Given the description of an element on the screen output the (x, y) to click on. 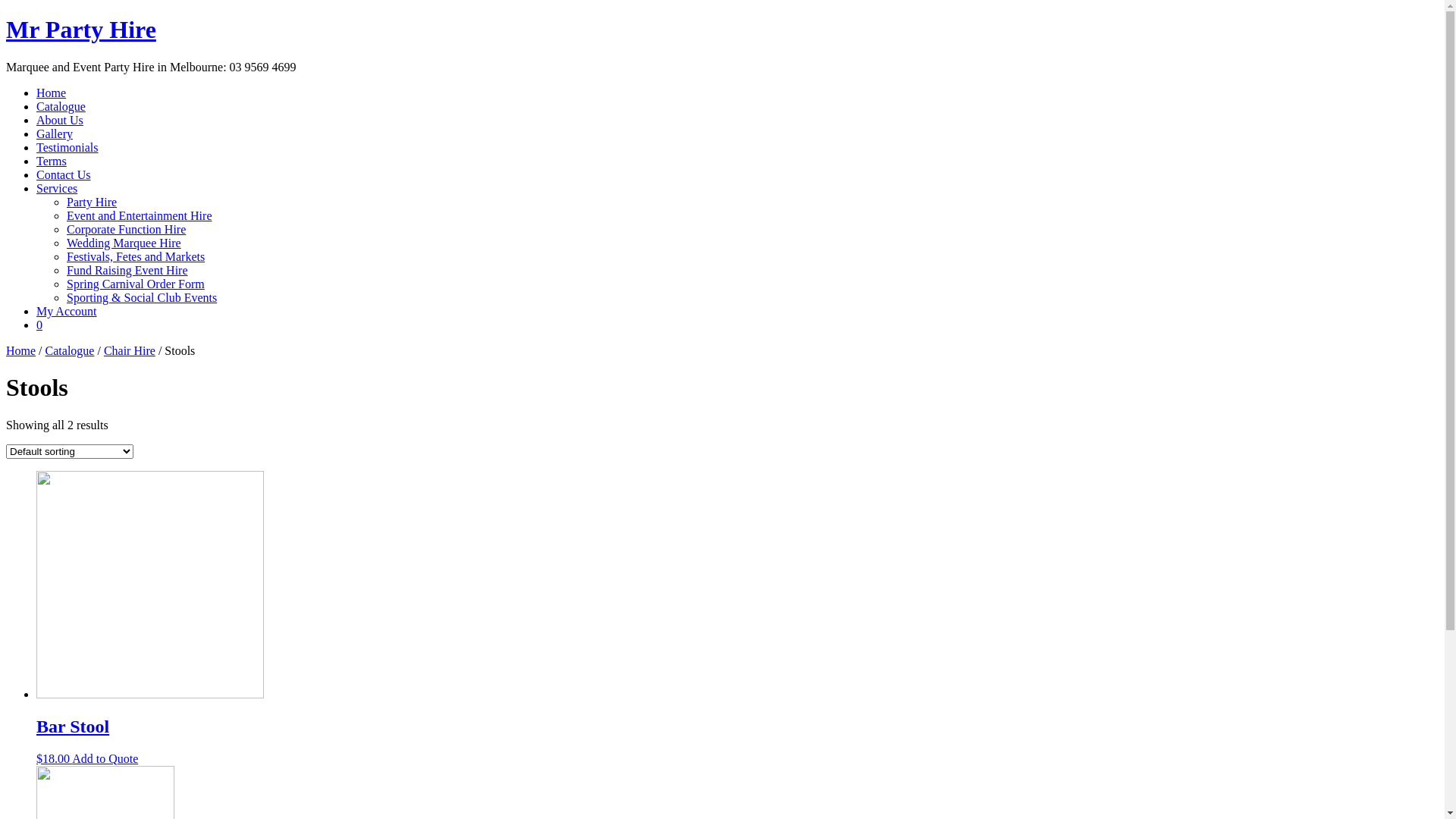
Catalogue Element type: text (69, 350)
Corporate Function Hire Element type: text (125, 228)
Testimonials Element type: text (67, 147)
Spring Carnival Order Form Element type: text (135, 283)
Event and Entertainment Hire Element type: text (138, 215)
About Us Element type: text (59, 119)
Catalogue Element type: text (60, 106)
Skip to content Element type: text (5, 15)
Fund Raising Event Hire Element type: text (127, 269)
Festivals, Fetes and Markets Element type: text (135, 256)
Terms Element type: text (51, 160)
Wedding Marquee Hire Element type: text (123, 242)
Gallery Element type: text (54, 133)
0 Element type: text (39, 324)
Contact Us Element type: text (63, 174)
Home Element type: text (20, 350)
Home Element type: text (50, 92)
Chair Hire Element type: text (129, 350)
My Account Element type: text (66, 310)
Services Element type: text (56, 188)
Party Hire Element type: text (91, 201)
Bar Stool
$18.00 Element type: text (737, 726)
Sporting & Social Club Events Element type: text (141, 297)
Mr Party Hire Element type: text (81, 29)
Add to Quote Element type: text (105, 758)
